Given the description of an element on the screen output the (x, y) to click on. 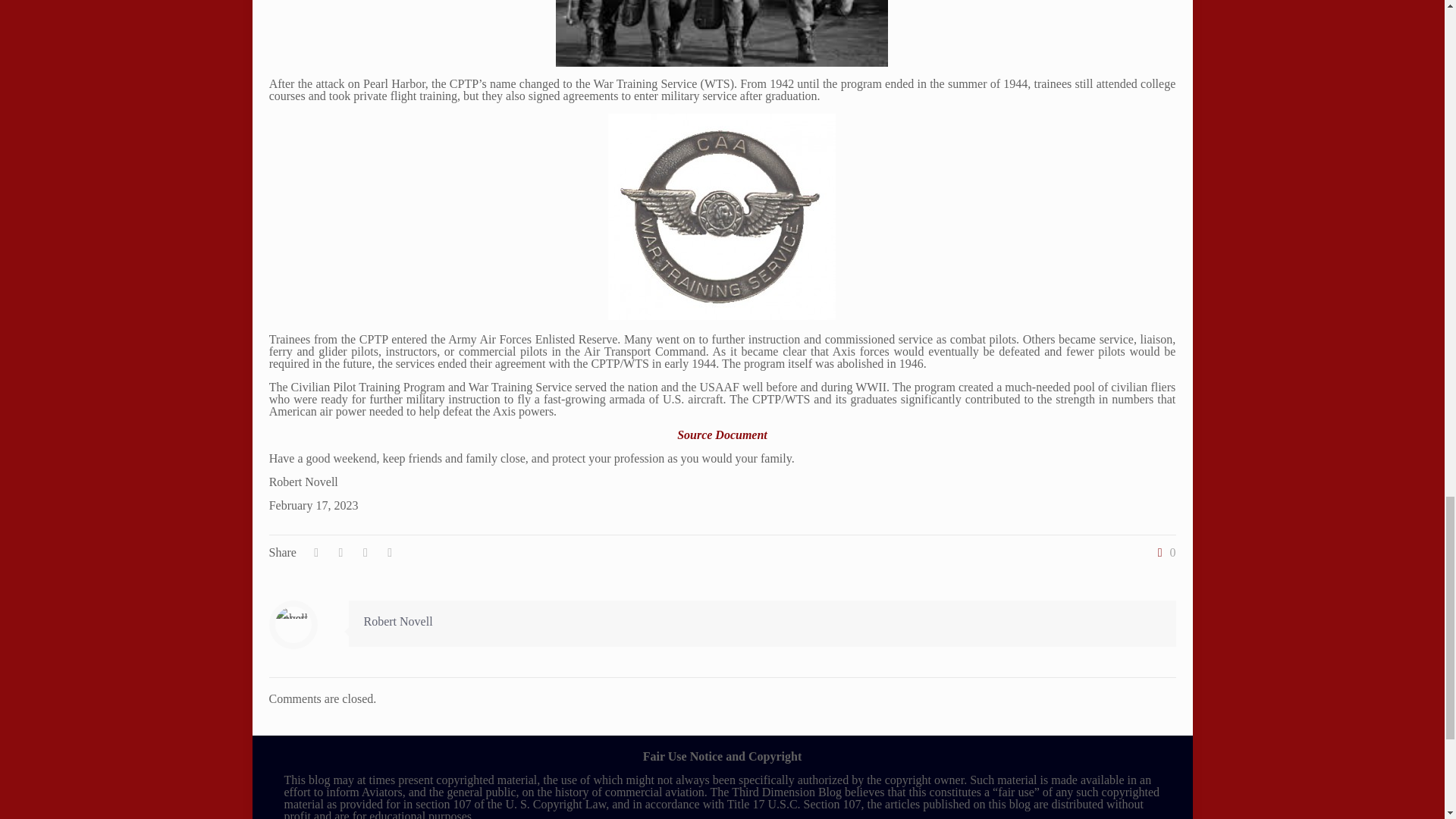
Robert Novell (398, 621)
Source Document (722, 434)
0 (1162, 552)
